Given the description of an element on the screen output the (x, y) to click on. 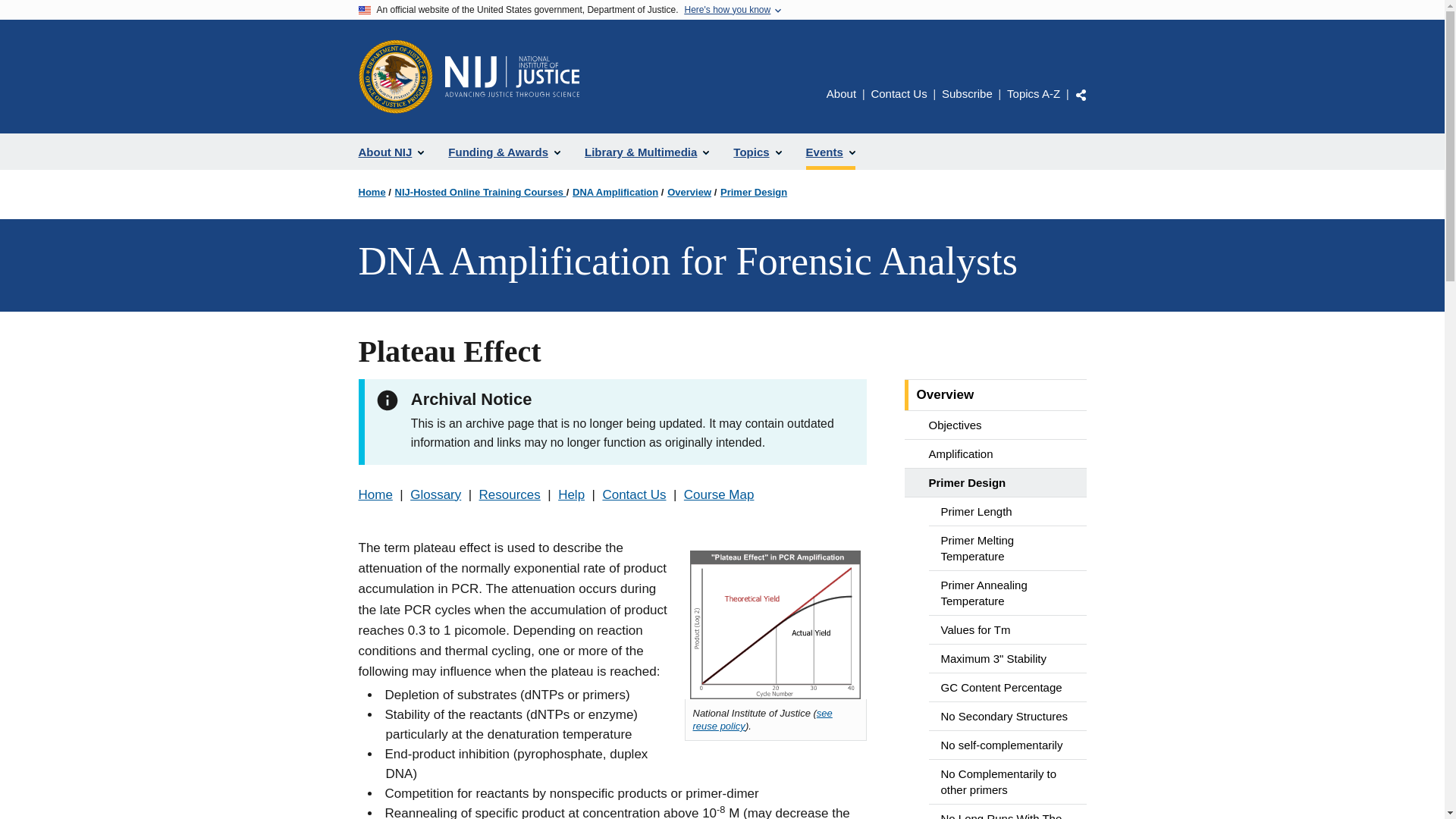
About (841, 93)
see reuse policy (762, 719)
Events (830, 151)
Contact Us (633, 494)
Overview (688, 192)
Topics A-Z (1033, 93)
Subscribe (967, 93)
Help (571, 494)
Topics (756, 151)
Contact Us (898, 93)
Glossary (435, 494)
Course Map (719, 494)
Share (1080, 94)
Home (371, 192)
